Given the description of an element on the screen output the (x, y) to click on. 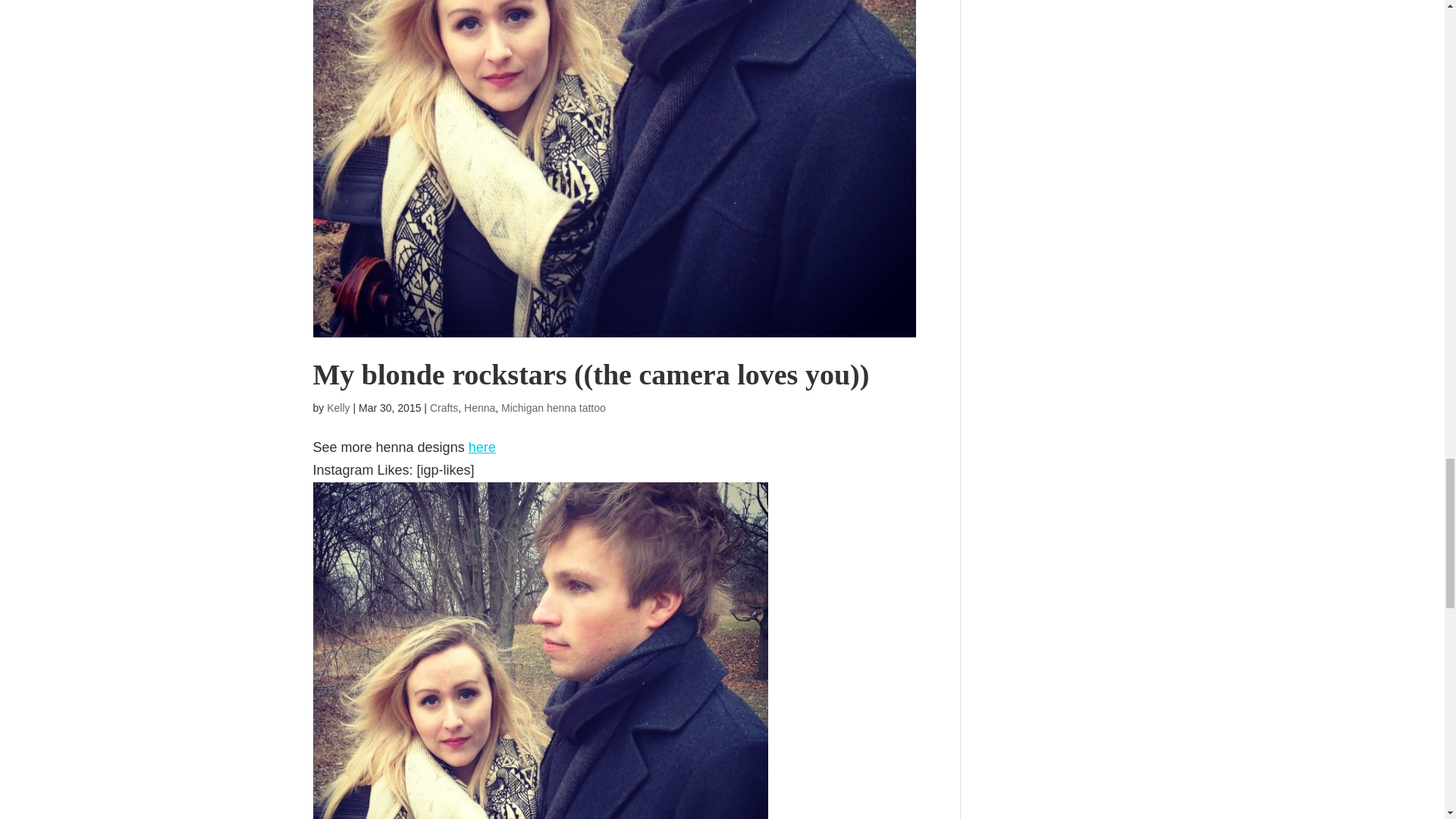
Posts by Kelly (337, 408)
